Given the description of an element on the screen output the (x, y) to click on. 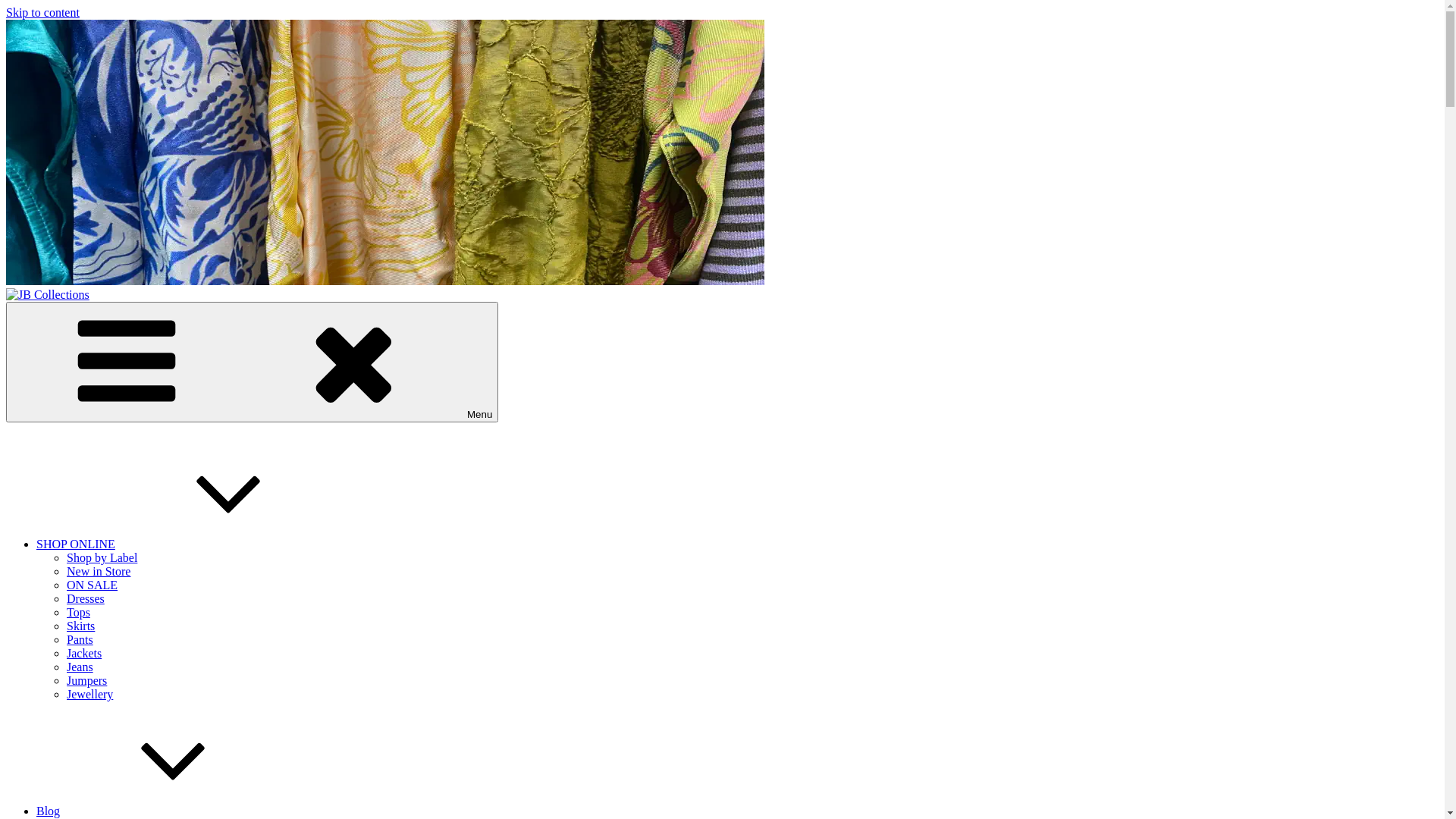
Dresses Element type: text (85, 598)
Pants Element type: text (79, 639)
Tops Element type: text (78, 611)
Jackets Element type: text (83, 652)
Shop by Label Element type: text (101, 557)
Jeans Element type: text (79, 666)
Jumpers Element type: text (86, 680)
New in Store Element type: text (98, 570)
Blog Element type: text (161, 810)
ON SALE Element type: text (91, 584)
Jewellery Element type: text (89, 693)
Skip to content Element type: text (42, 12)
Menu Element type: text (252, 361)
JB Collections Element type: text (41, 319)
Skirts Element type: text (80, 625)
SHOP ONLINE Element type: text (189, 543)
